Given the description of an element on the screen output the (x, y) to click on. 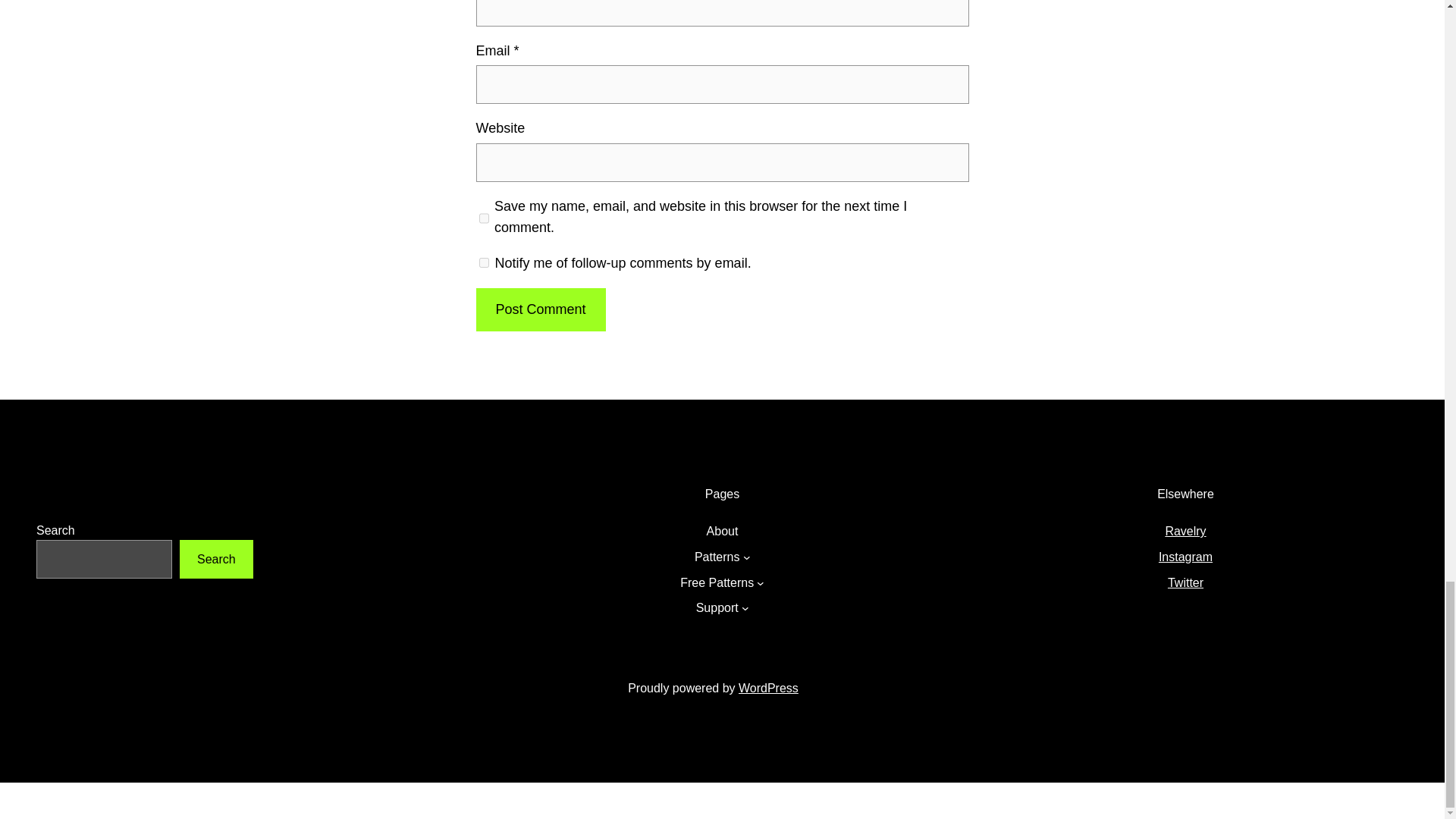
Post Comment (540, 309)
Post Comment (540, 309)
subscribe (484, 262)
Search (216, 558)
About (722, 531)
